Given the description of an element on the screen output the (x, y) to click on. 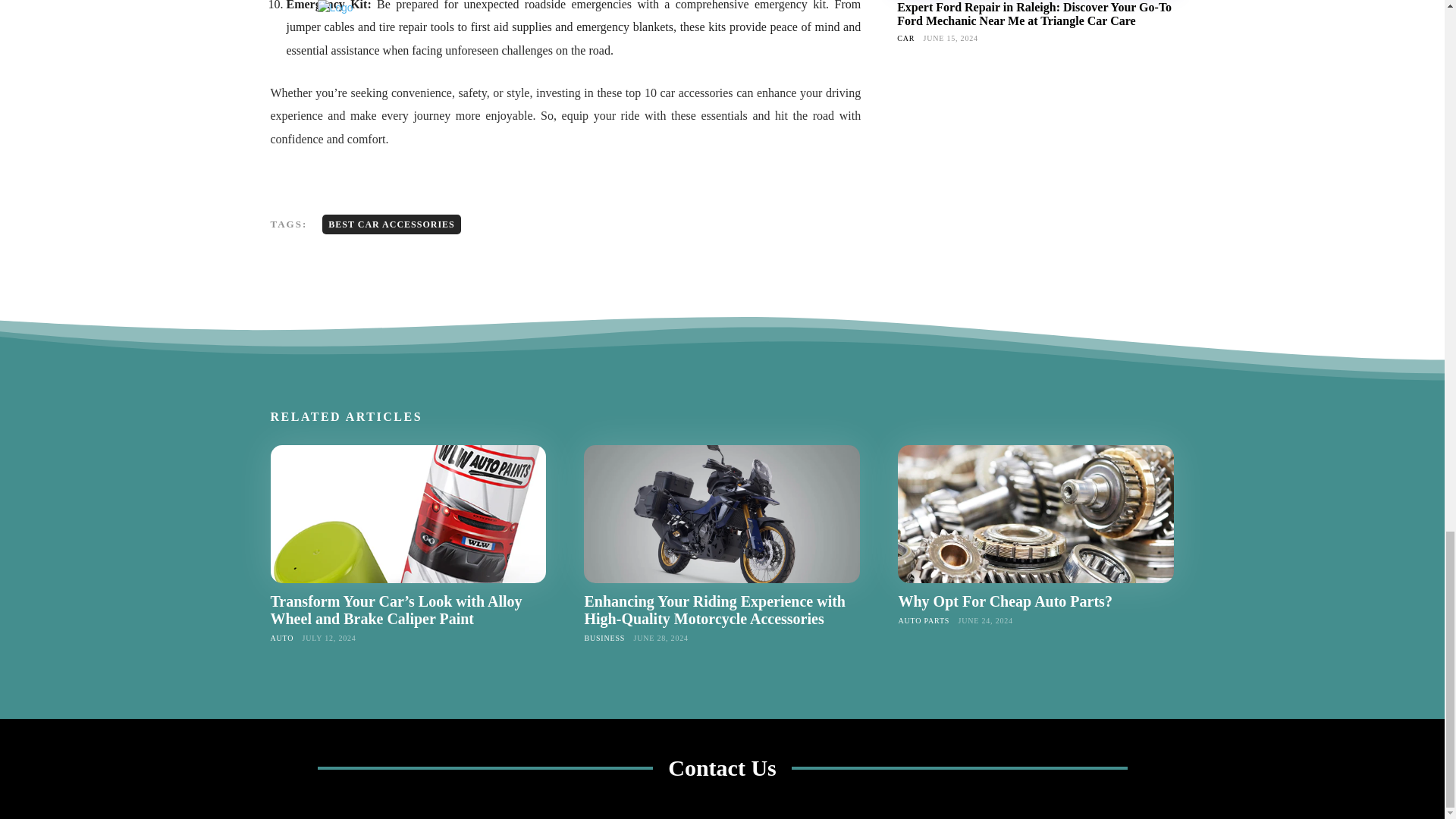
CAR (905, 37)
BEST CAR ACCESSORIES (391, 224)
